Given the description of an element on the screen output the (x, y) to click on. 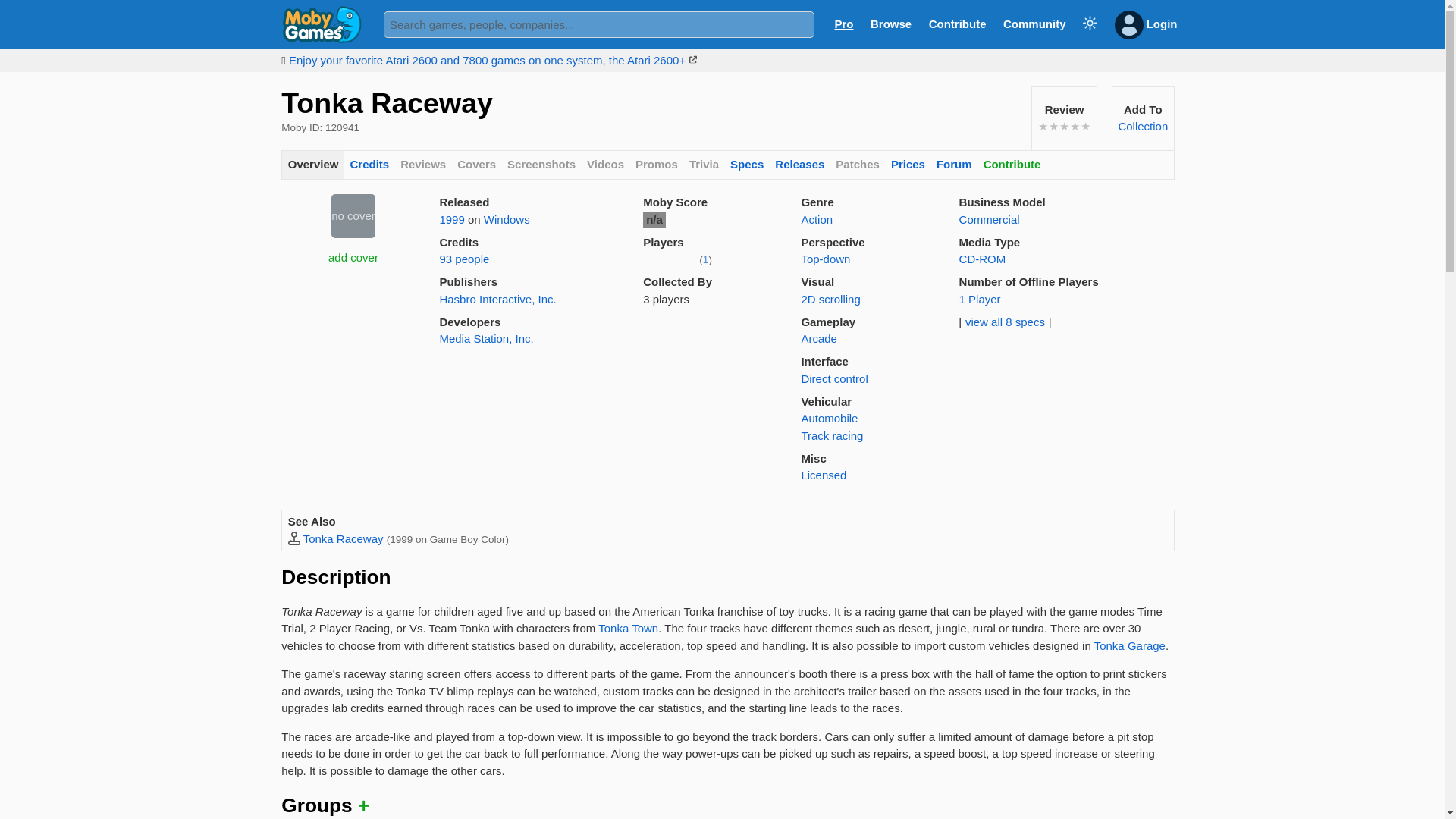
Covers (476, 165)
Videos (605, 165)
Credits (368, 165)
Overview (312, 165)
Reviews (422, 165)
Pro (843, 23)
Collection (353, 216)
Screenshots (1142, 125)
